Given the description of an element on the screen output the (x, y) to click on. 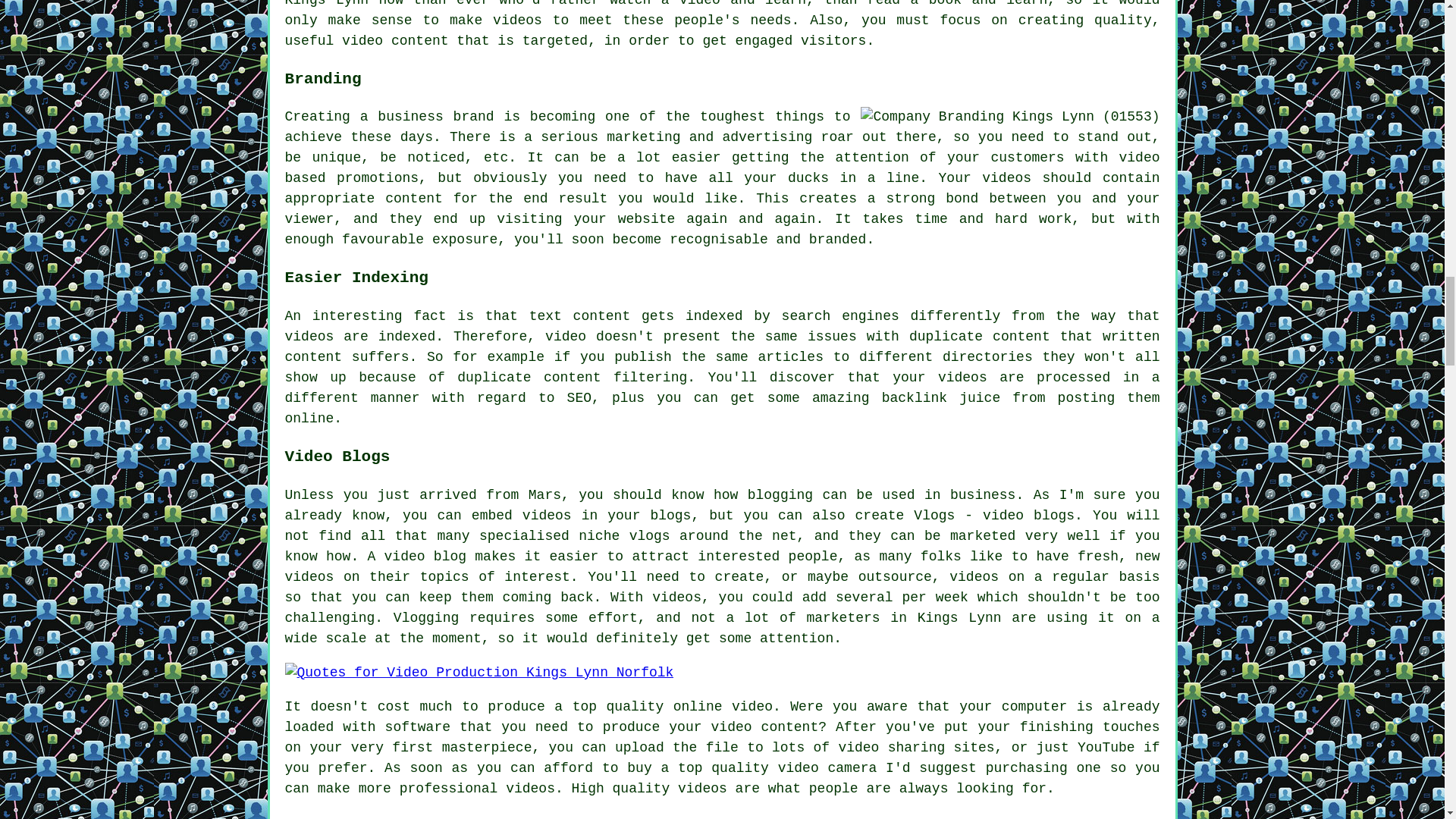
Quotes for Video Production Kings Lynn Norfolk (479, 672)
